Given the description of an element on the screen output the (x, y) to click on. 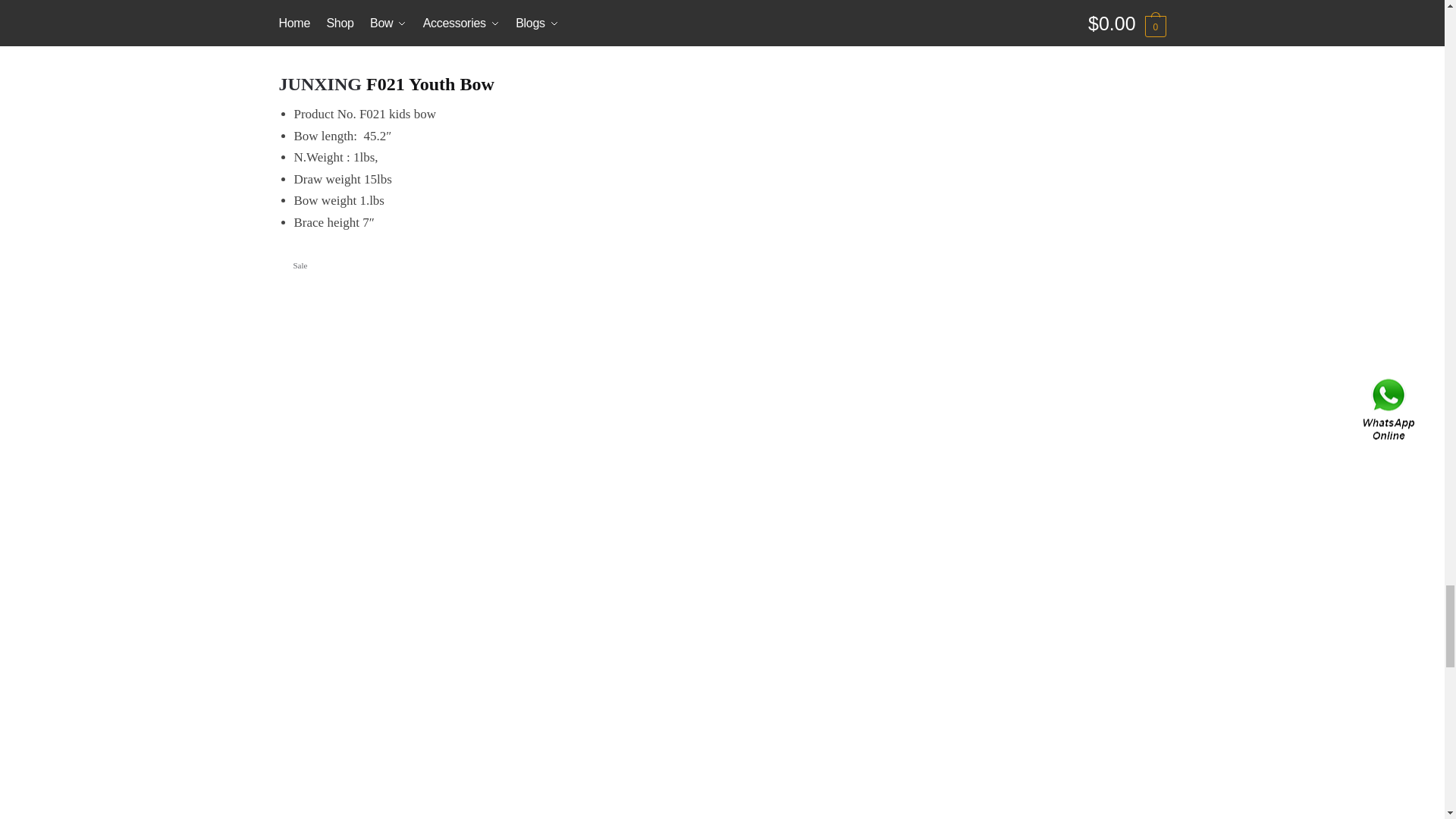
JUNXING (320, 84)
